Given the description of an element on the screen output the (x, y) to click on. 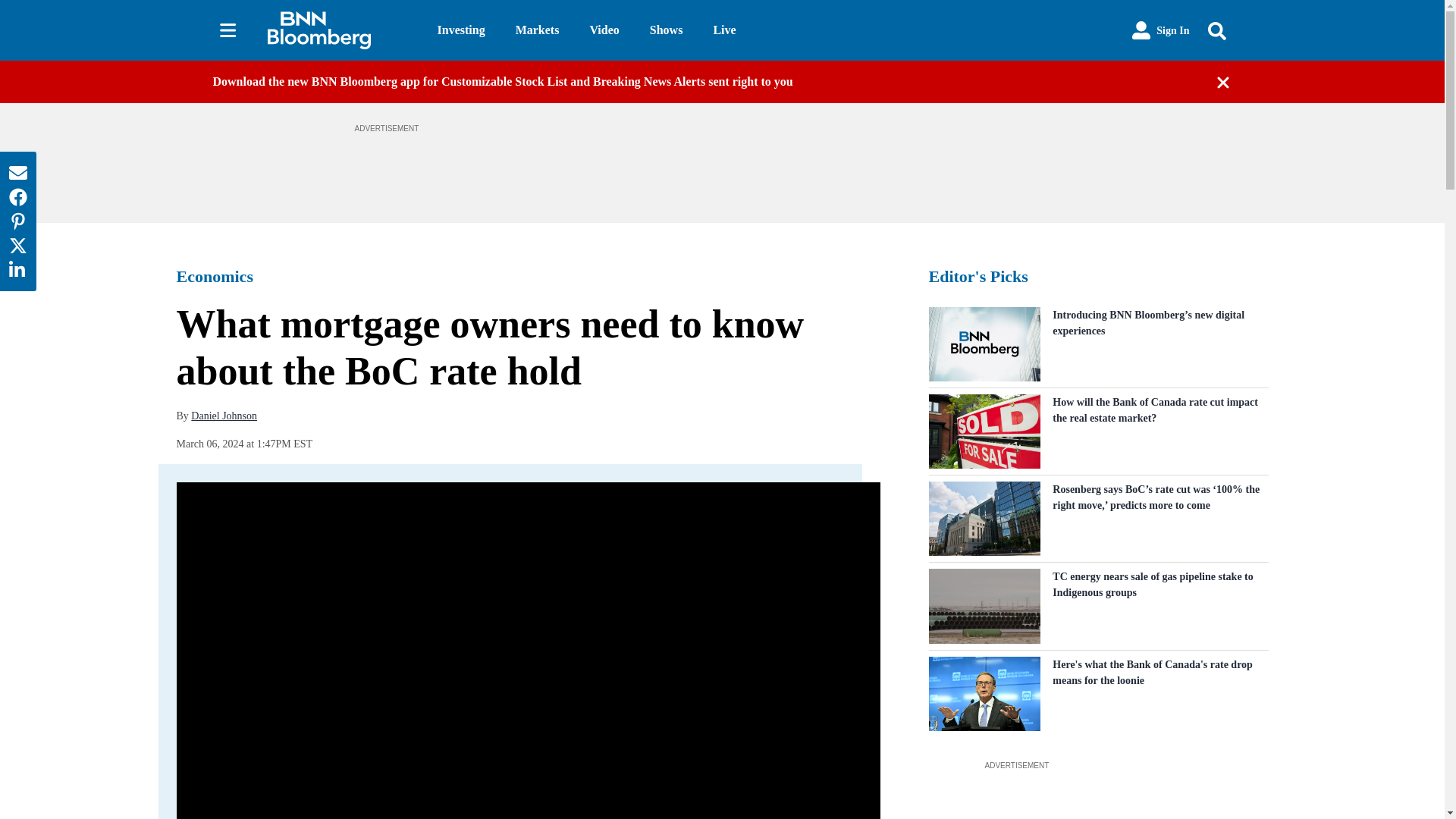
Live (724, 30)
Markets (537, 30)
Video (603, 30)
3rd party ad content (1097, 796)
BNN Bloomberg (339, 30)
Sections (227, 30)
Investing (460, 30)
Shows (665, 30)
Sign In (1160, 30)
